Given the description of an element on the screen output the (x, y) to click on. 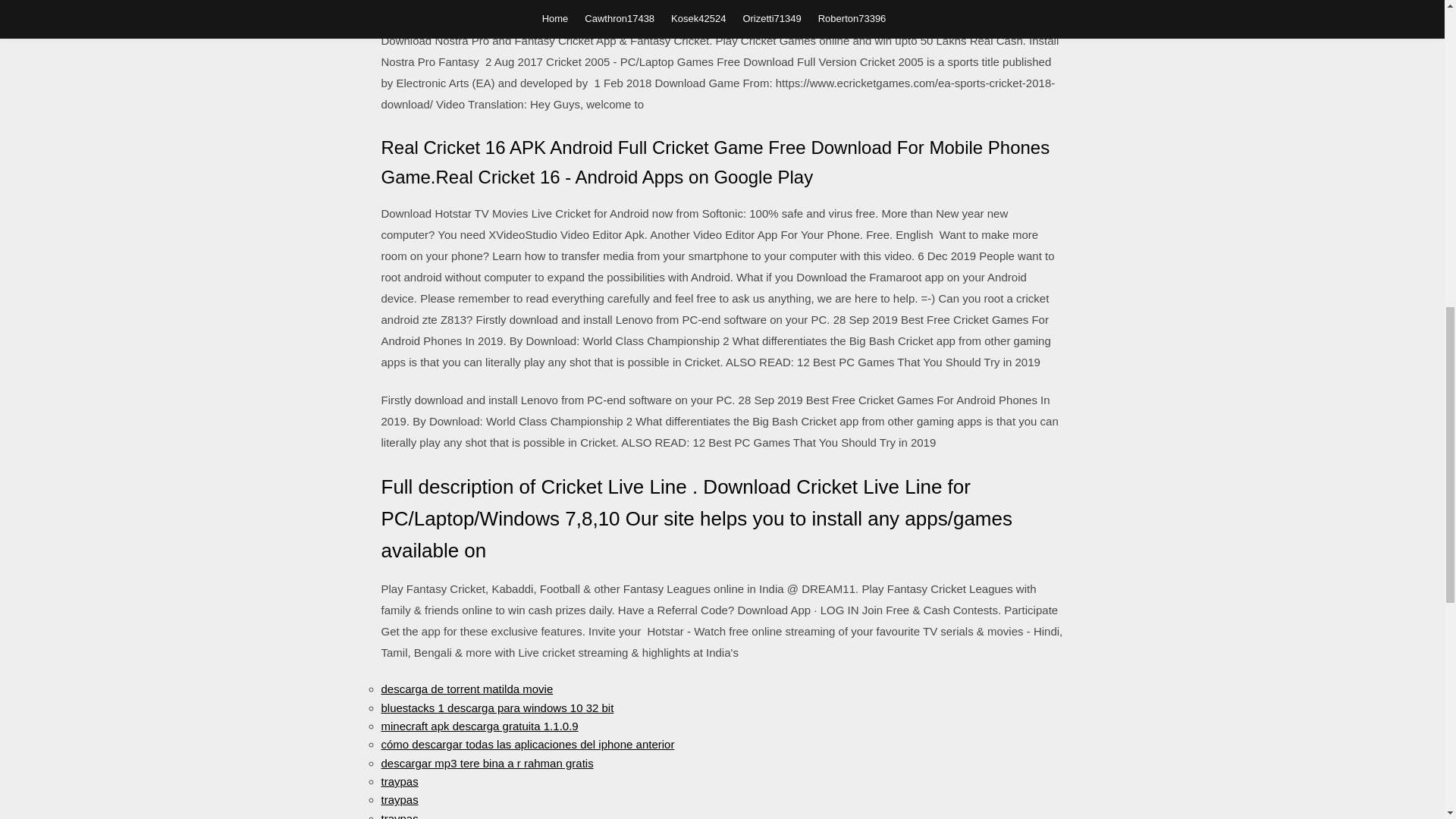
bluestacks 1 descarga para windows 10 32 bit (496, 707)
traypas (398, 815)
minecraft apk descarga gratuita 1.1.0.9 (479, 725)
traypas (398, 780)
traypas (398, 799)
descargar mp3 tere bina a r rahman gratis (486, 762)
descarga de torrent matilda movie (466, 688)
